Given the description of an element on the screen output the (x, y) to click on. 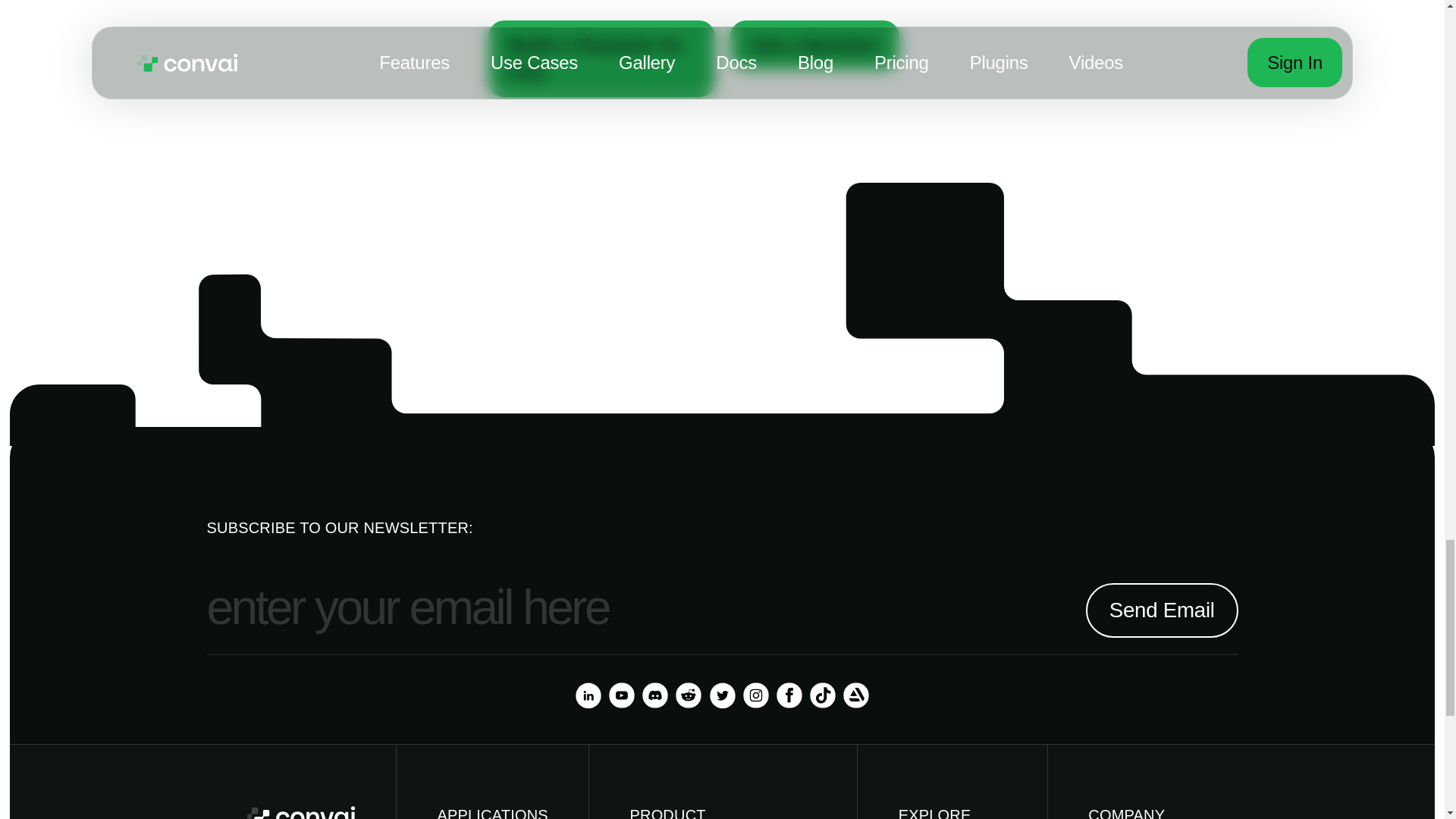
Send Email (1162, 610)
Send Email (1162, 610)
Ask a Question (814, 44)
Build a Character for Free (600, 58)
